Given the description of an element on the screen output the (x, y) to click on. 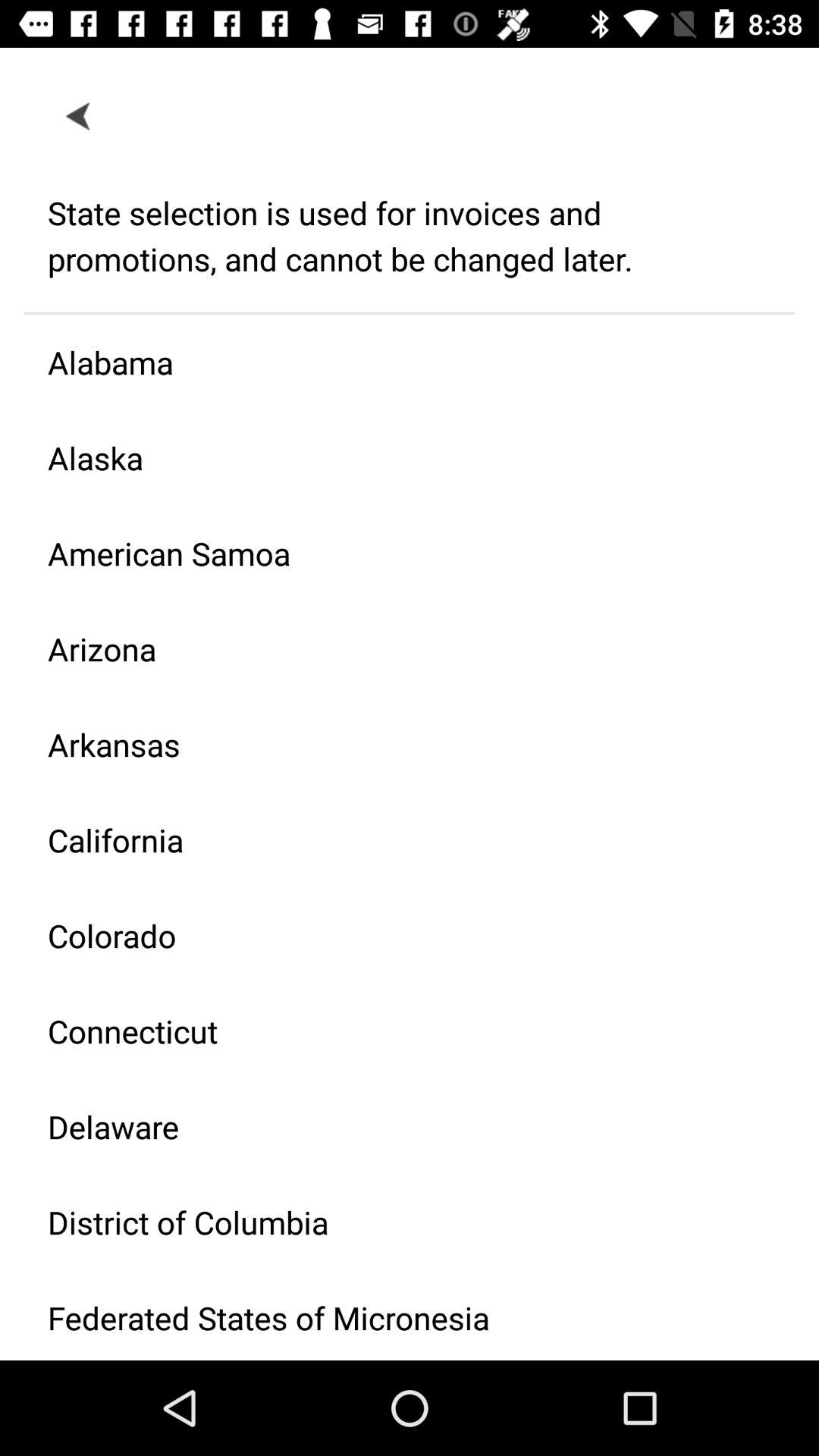
scroll until california (397, 839)
